Given the description of an element on the screen output the (x, y) to click on. 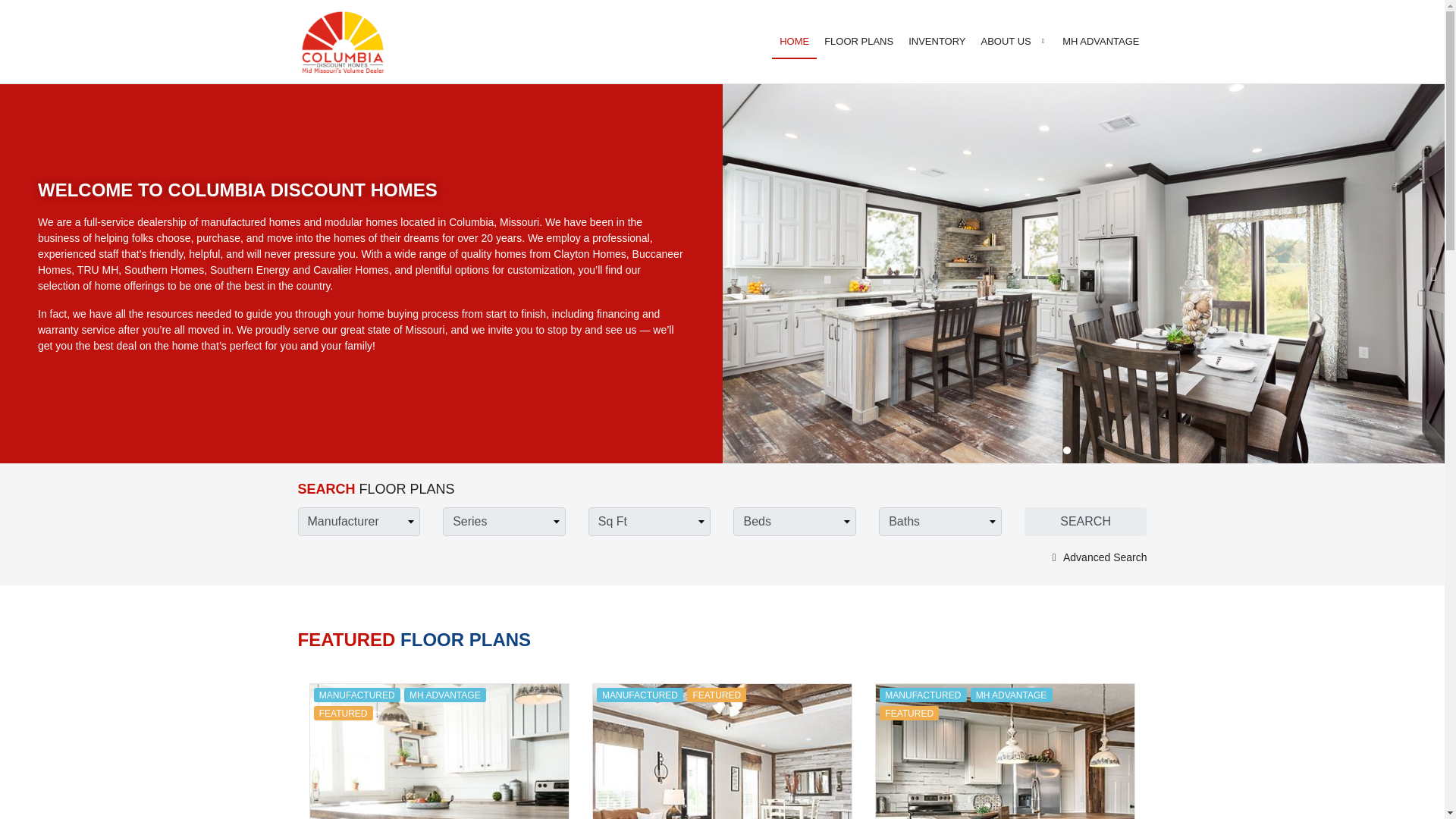
ABOUT US (1014, 41)
INVENTORY (936, 41)
HOME (793, 41)
Advanced Search (1096, 557)
FLOOR PLANS (858, 41)
SEARCH (1086, 521)
MH ADVANTAGE (1100, 41)
